Given the description of an element on the screen output the (x, y) to click on. 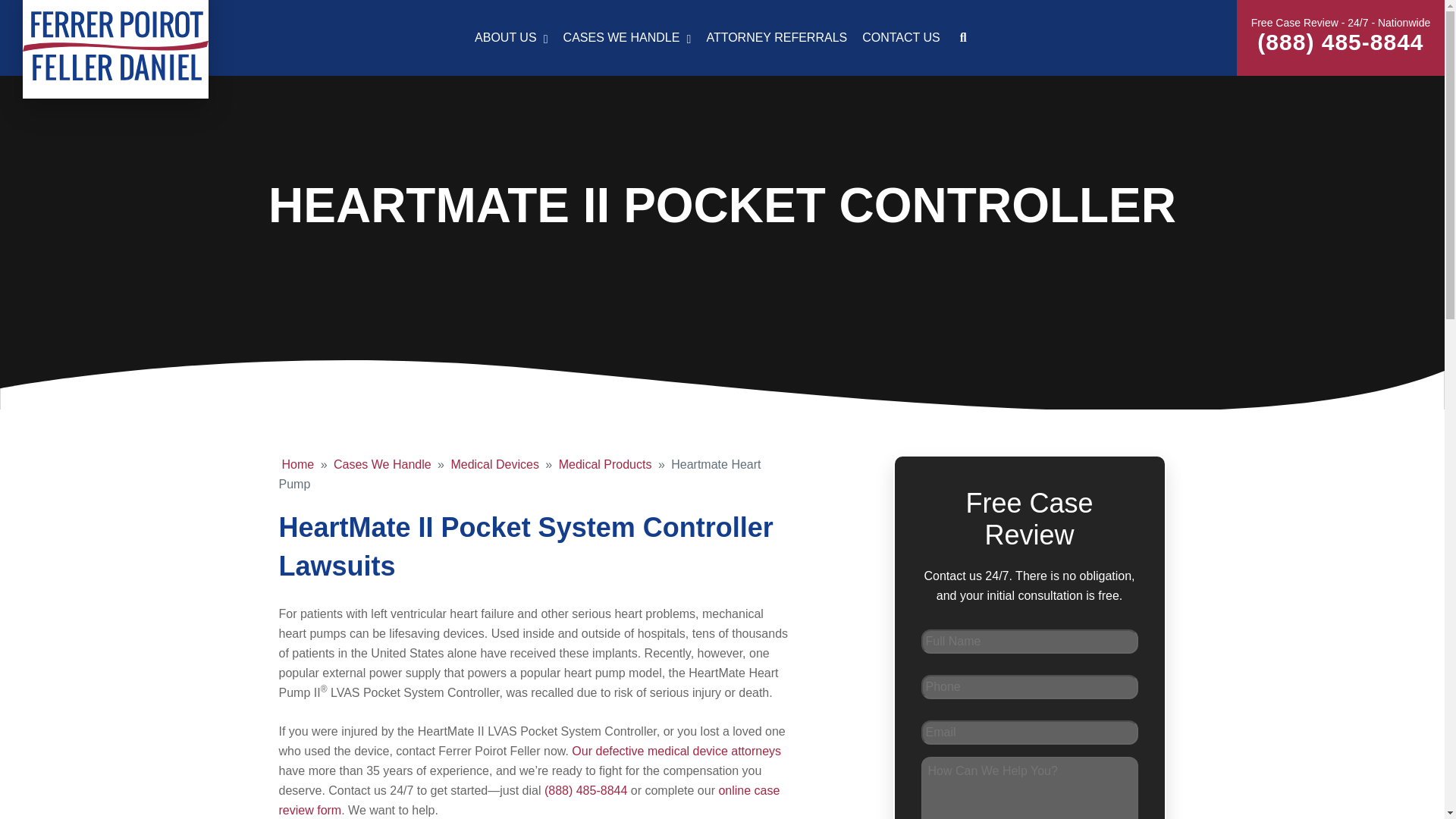
Our defective medical device attorneys (676, 750)
Cases We Handle (381, 463)
Home (298, 463)
online case review form (529, 799)
CASES WE HANDLE (627, 37)
Medical Devices (493, 463)
CONTACT US (900, 37)
ATTORNEY REFERRALS (776, 37)
ABOUT US (722, 37)
